Given the description of an element on the screen output the (x, y) to click on. 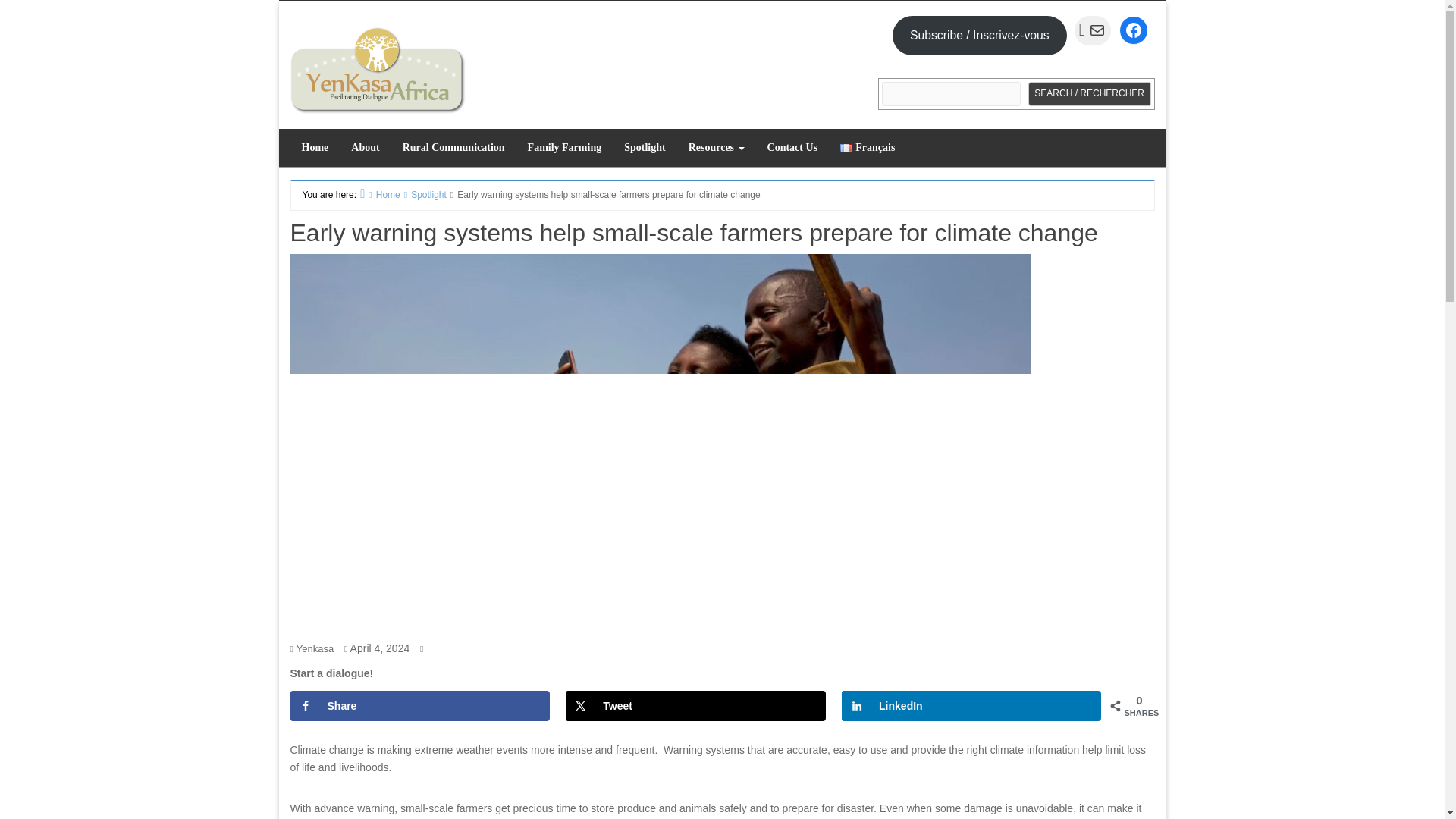
Share on Facebook (418, 706)
Resources (716, 147)
Family Farming (564, 147)
Posts by Yenkasa (315, 648)
Rural Communication (453, 147)
About (364, 147)
Tweet (695, 706)
LinkedIn (970, 706)
Home (314, 147)
Resources (716, 147)
Spotlight (644, 147)
Facebook (1133, 30)
Contact Us (792, 147)
Family Farming (564, 147)
Spotlight (644, 147)
